Given the description of an element on the screen output the (x, y) to click on. 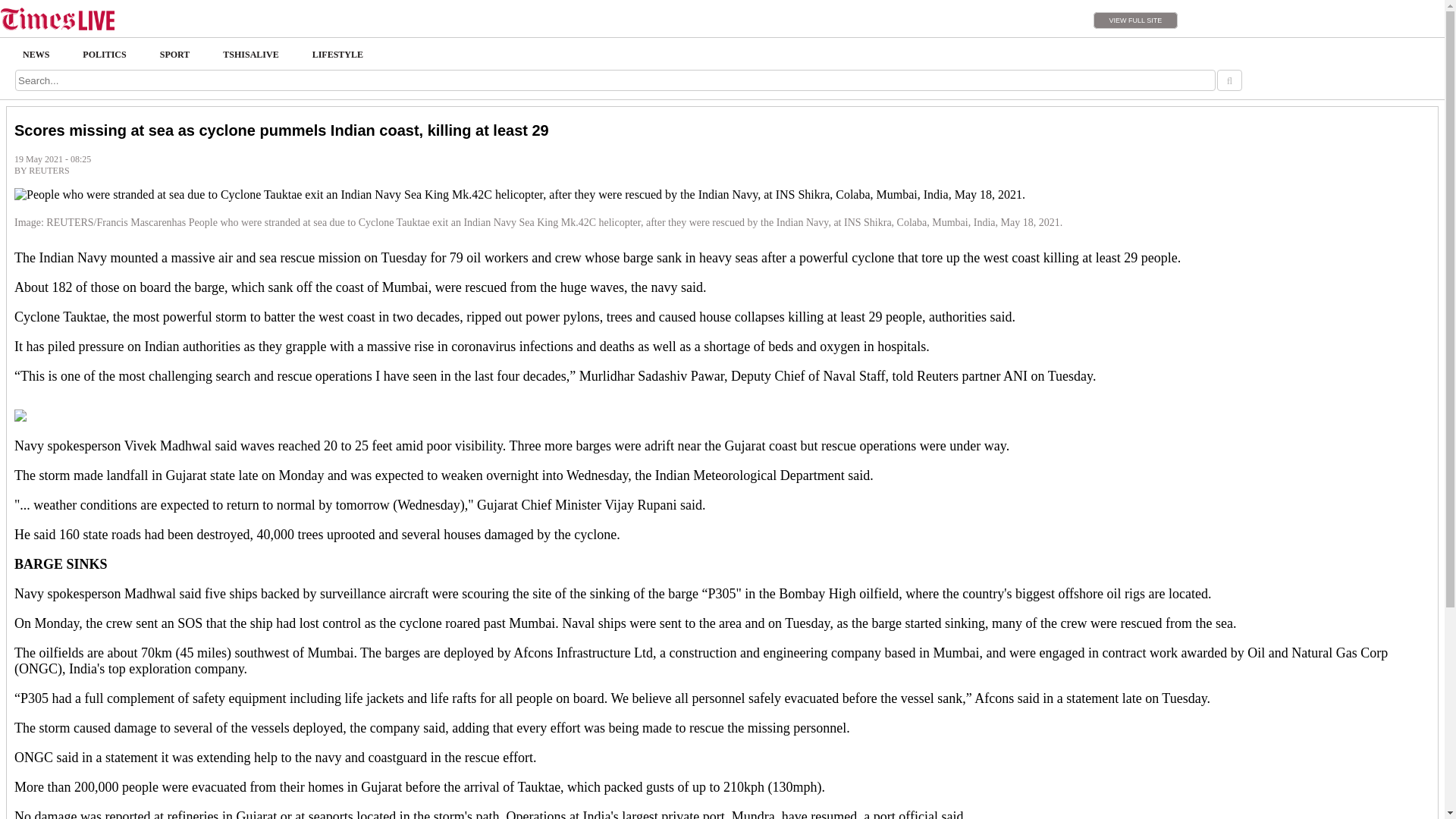
POLITICS (103, 54)
LIFESTYLE (337, 54)
NEWS (35, 54)
SPORT (174, 54)
TSHISALIVE (251, 54)
VIEW FULL SITE (1135, 20)
search (1229, 79)
